Given the description of an element on the screen output the (x, y) to click on. 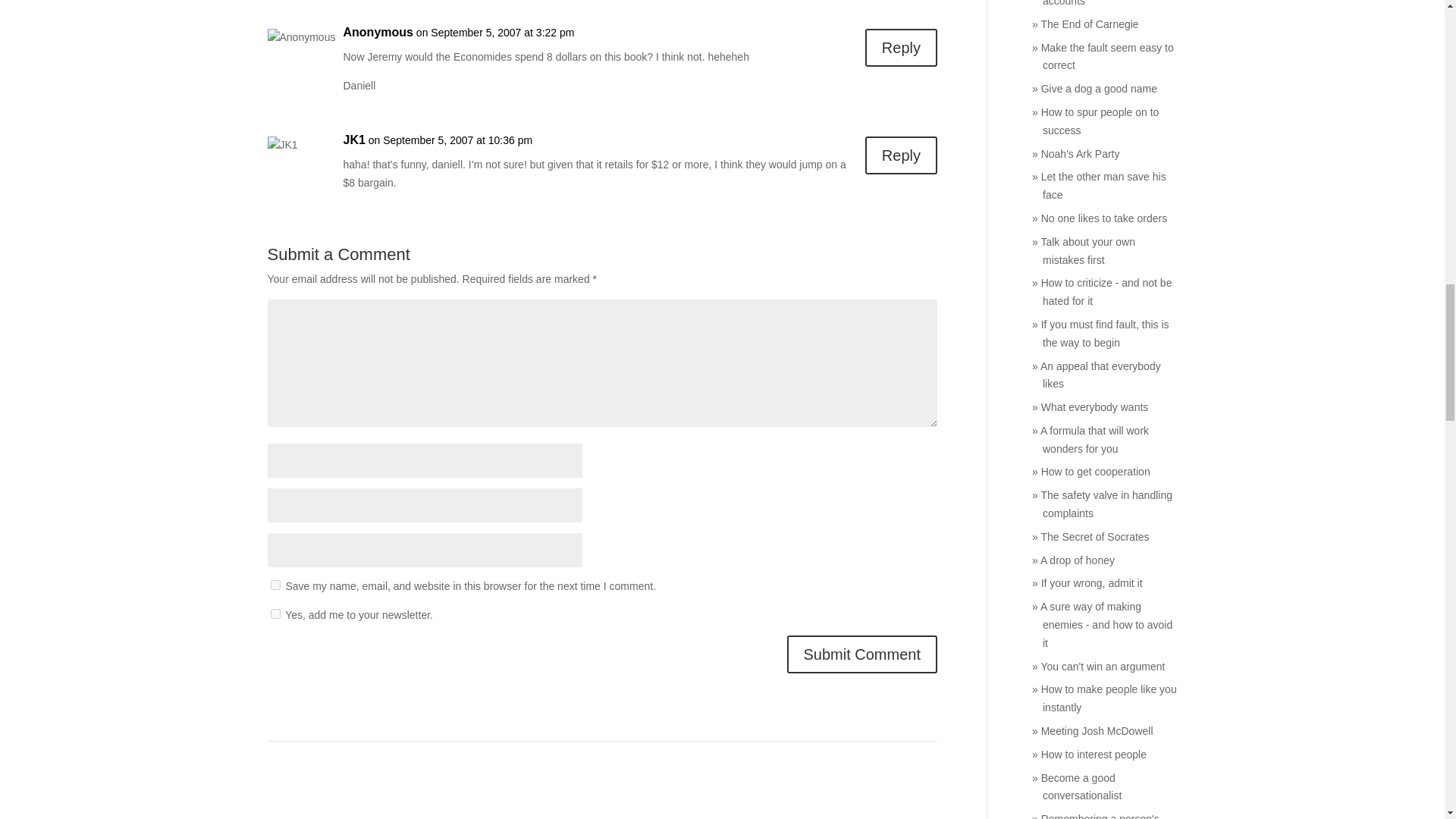
Submit Comment (862, 654)
Reply (900, 47)
yes (274, 584)
1 (274, 614)
Submit Comment (862, 654)
Reply (900, 155)
JK1 (353, 140)
